Given the description of an element on the screen output the (x, y) to click on. 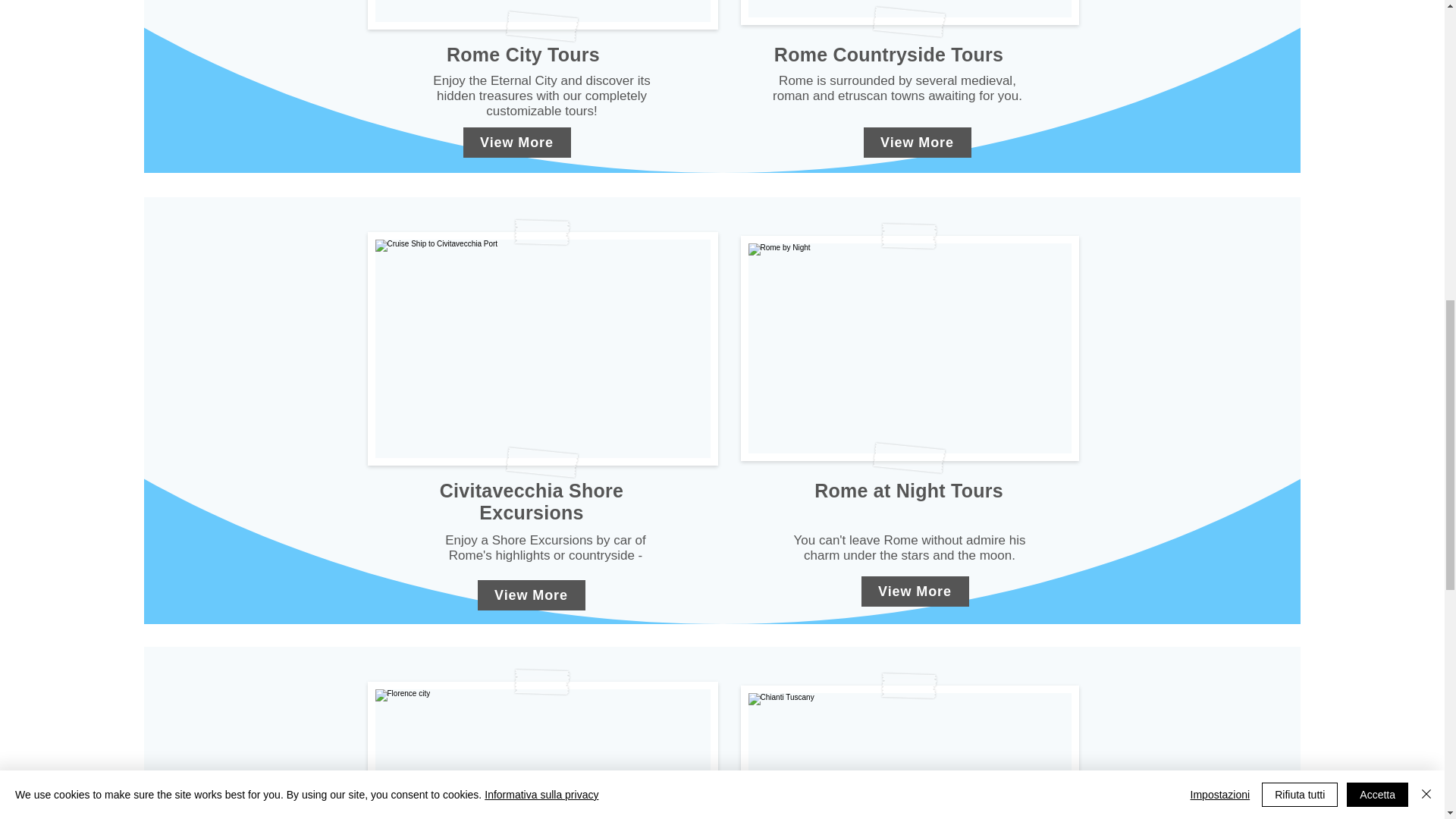
View More (915, 591)
View More (516, 142)
View More (531, 594)
View More (917, 142)
